Given the description of an element on the screen output the (x, y) to click on. 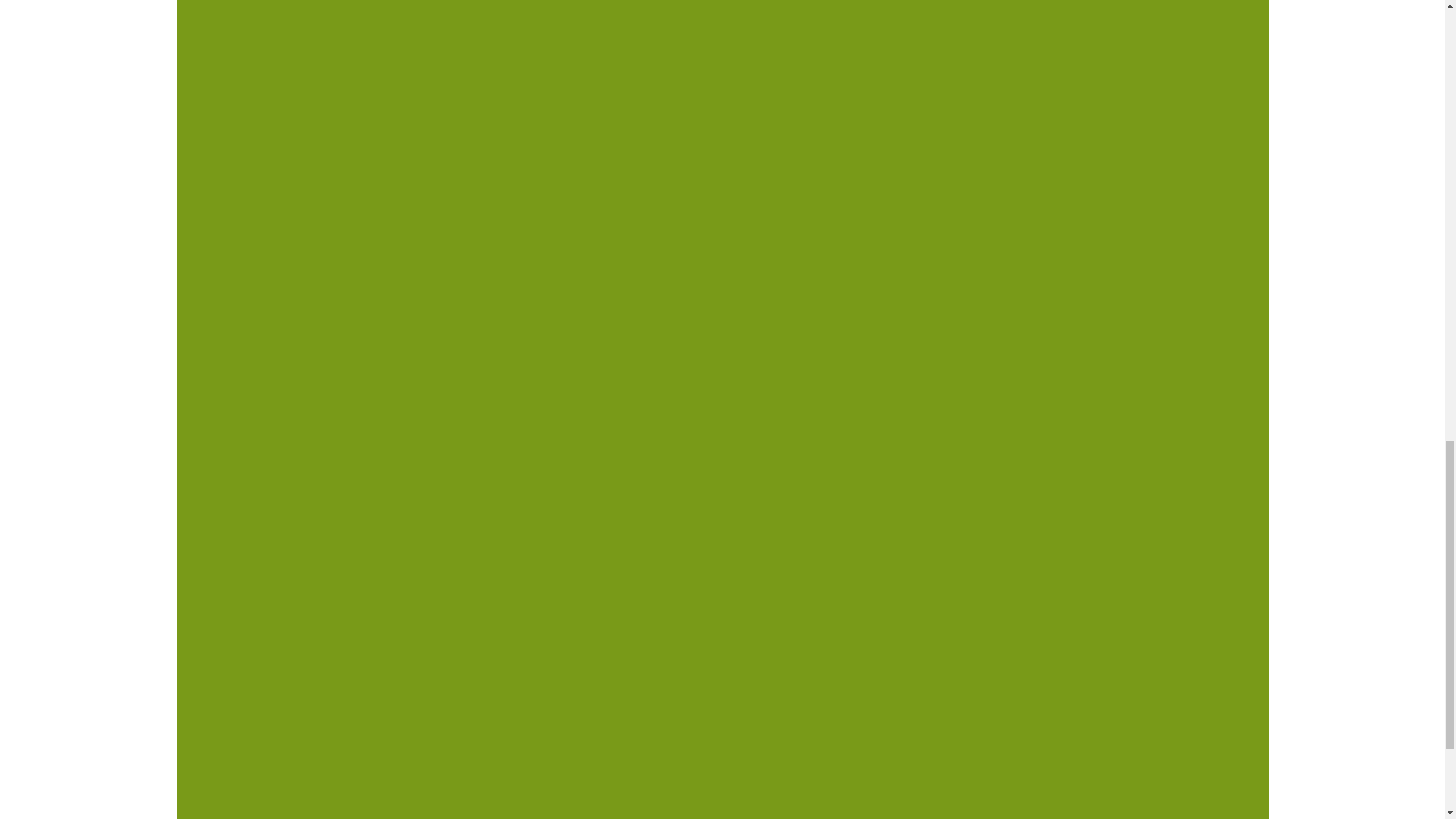
HOME Element type: text (360, 272)
ABOUT YOUR VISIT Element type: text (897, 272)
GIFT CARDS Element type: text (591, 272)
3G SKIN CARE Element type: text (732, 272)
GIVE THE PERFECT GIFT OF RELAXATION WITH A 3G GIFT CARD Element type: text (721, 36)
Three Graces European Day Spa Element type: hover (721, 167)
CONTACT US Element type: text (1055, 272)
SERVICES Element type: text (461, 272)
